Given the description of an element on the screen output the (x, y) to click on. 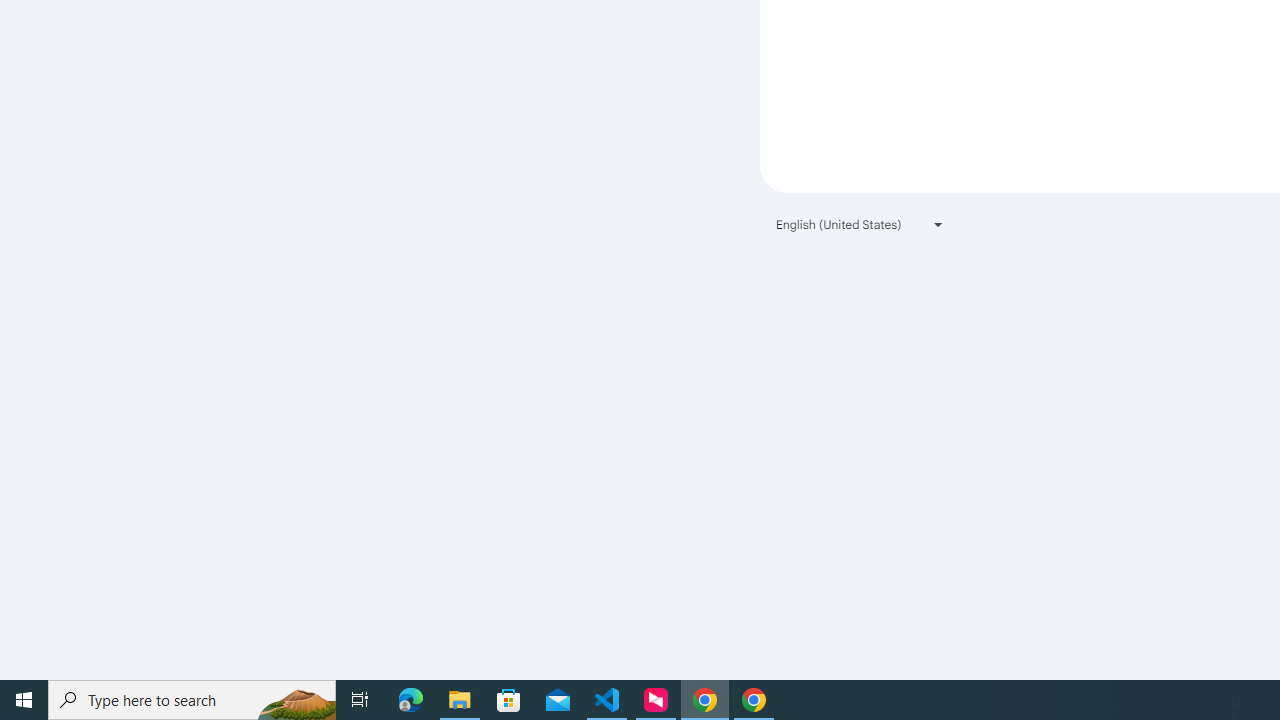
English (United States) (860, 224)
